Given the description of an element on the screen output the (x, y) to click on. 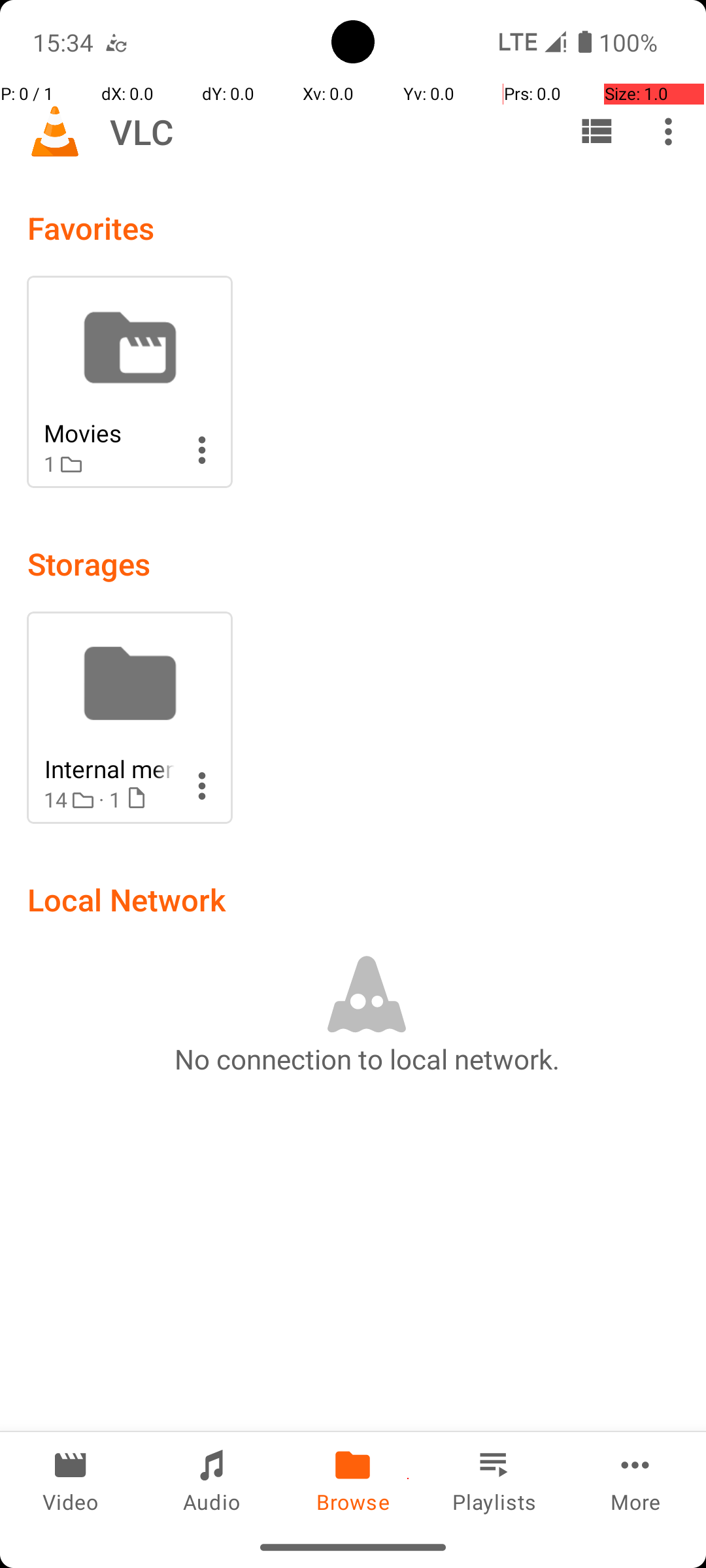
Folder: Internal memory, 14 subfolders, 1 media file Element type: androidx.cardview.widget.CardView (129, 717)
14 §*§ · 1 *§* Element type: android.widget.TextView (108, 799)
